Given the description of an element on the screen output the (x, y) to click on. 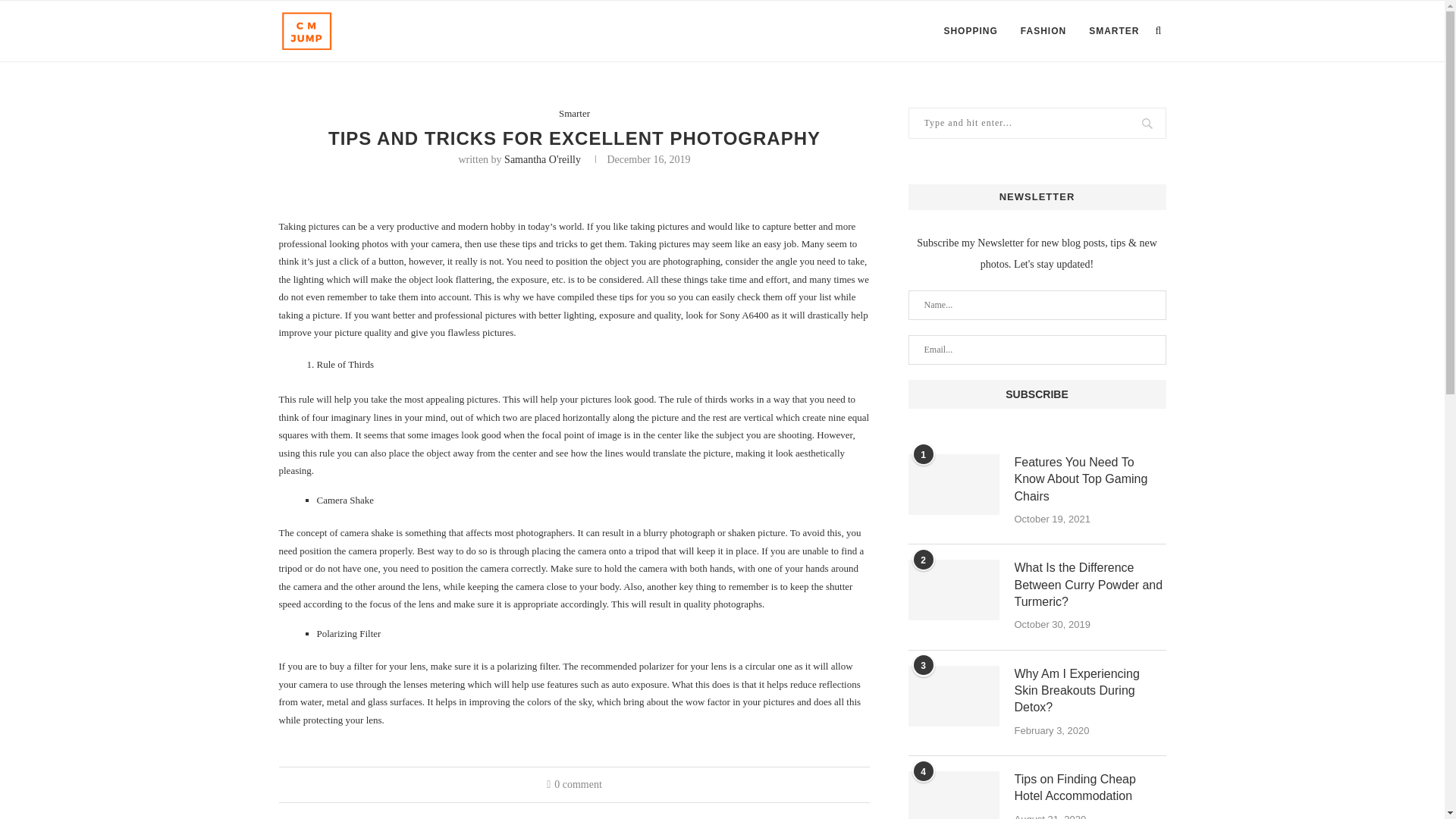
Subscribe (1037, 394)
What Is the Difference Between Curry Powder and Turmeric? (1090, 584)
What Is the Difference Between Curry Powder and Turmeric? (953, 589)
Samantha O'Reilly (541, 159)
Smarter (574, 113)
Features You Need To Know About Top Gaming Chairs (1090, 479)
quality (696, 603)
Features You Need To Know About Top Gaming Chairs (953, 484)
look for Sony A6400 (726, 315)
